Given the description of an element on the screen output the (x, y) to click on. 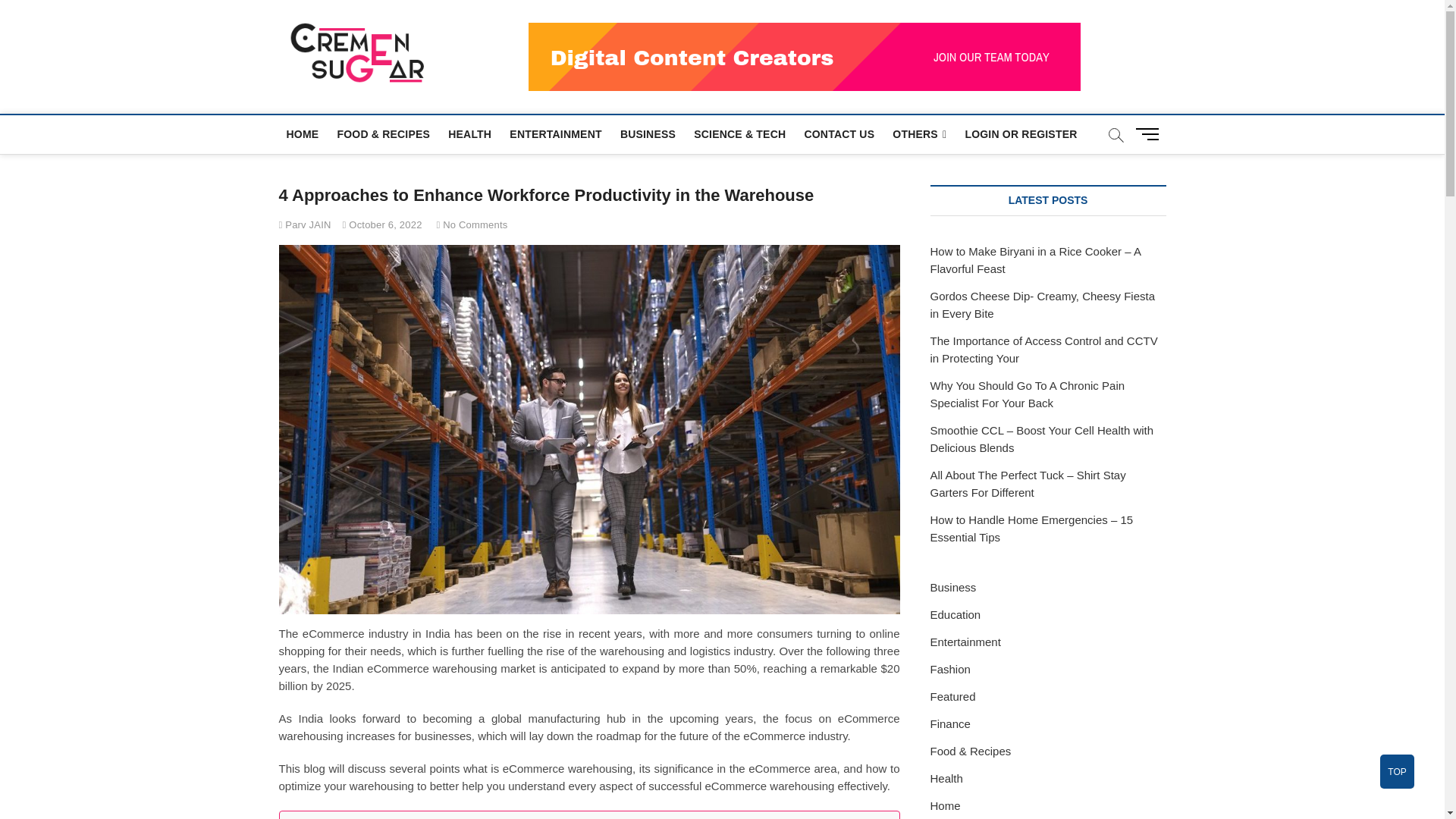
HOME (302, 134)
ENTERTAINMENT (555, 134)
HEALTH (470, 134)
BUSINESS (647, 134)
October 6, 2022 (382, 224)
CremeNsugar (520, 50)
Menu Button (1150, 133)
CONTACT US (839, 134)
OTHERS (919, 134)
LOGIN OR REGISTER (1020, 134)
CremeNsugar (520, 50)
